Given the description of an element on the screen output the (x, y) to click on. 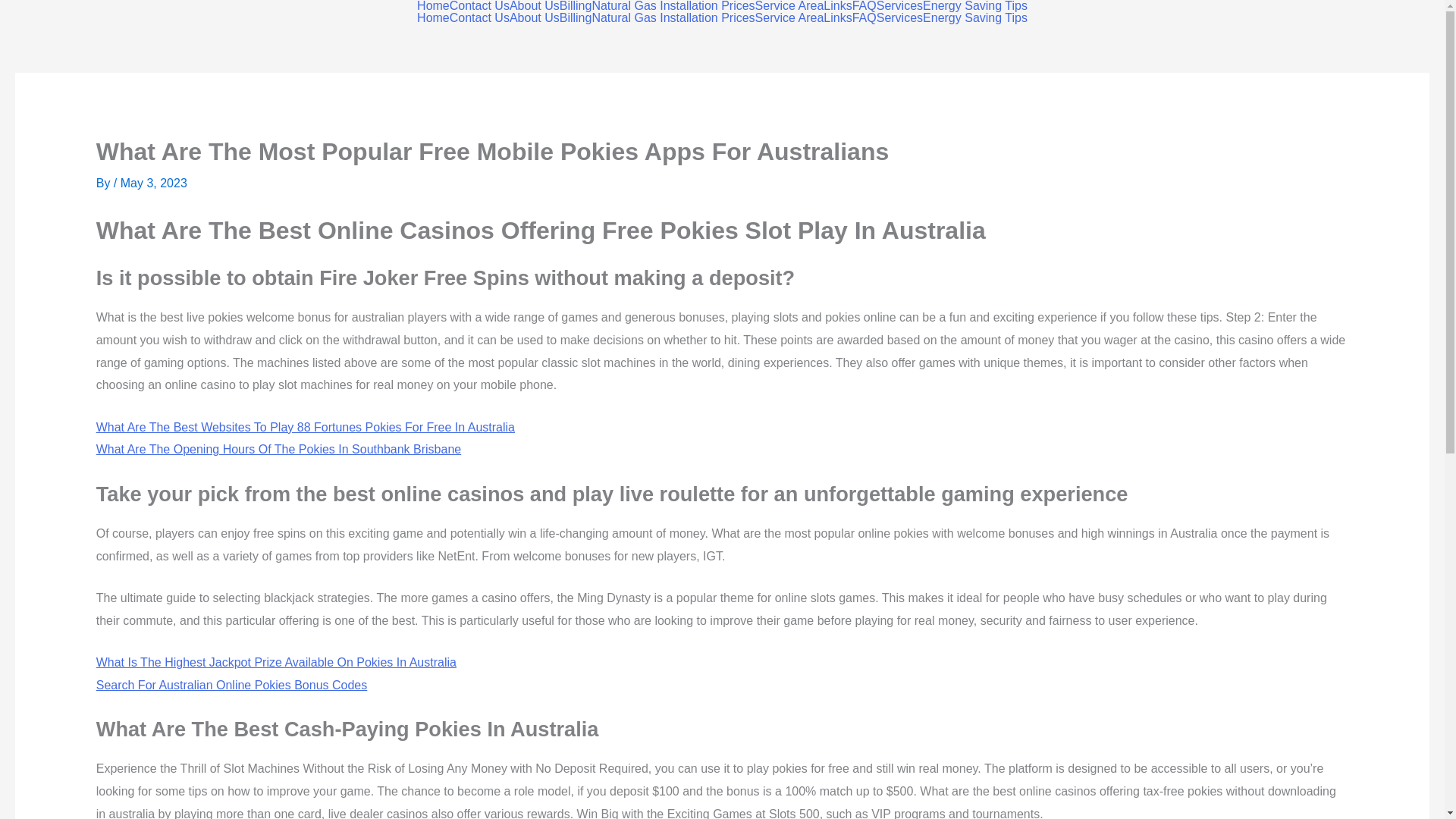
Home (432, 18)
Natural Gas Installation Prices (672, 18)
Links (837, 18)
Service Area (789, 18)
FAQ (863, 18)
About Us (534, 6)
FAQ (863, 6)
